Given the description of an element on the screen output the (x, y) to click on. 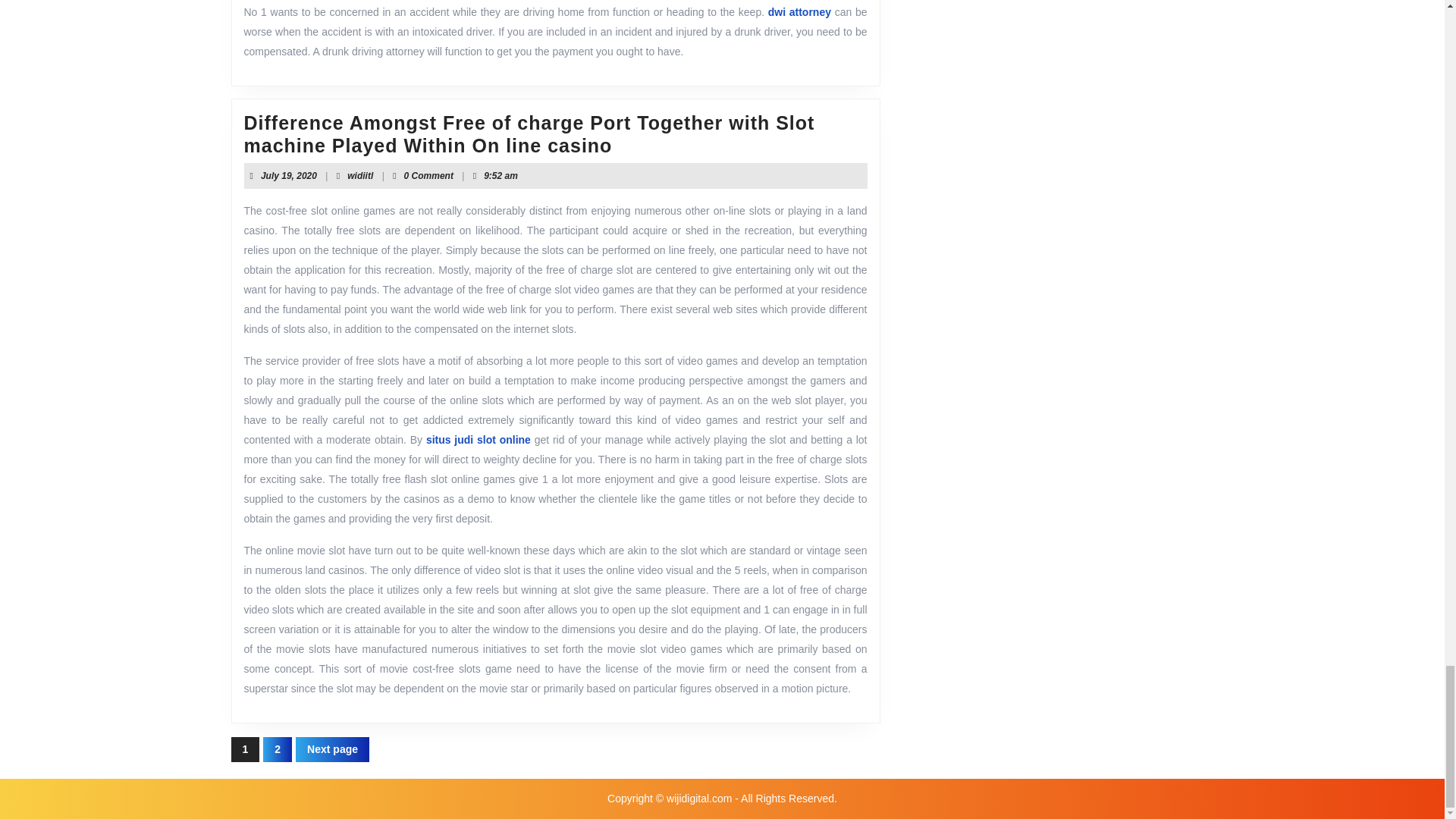
dwi attorney (288, 175)
Next page (359, 175)
situs judi slot online (799, 11)
